Given the description of an element on the screen output the (x, y) to click on. 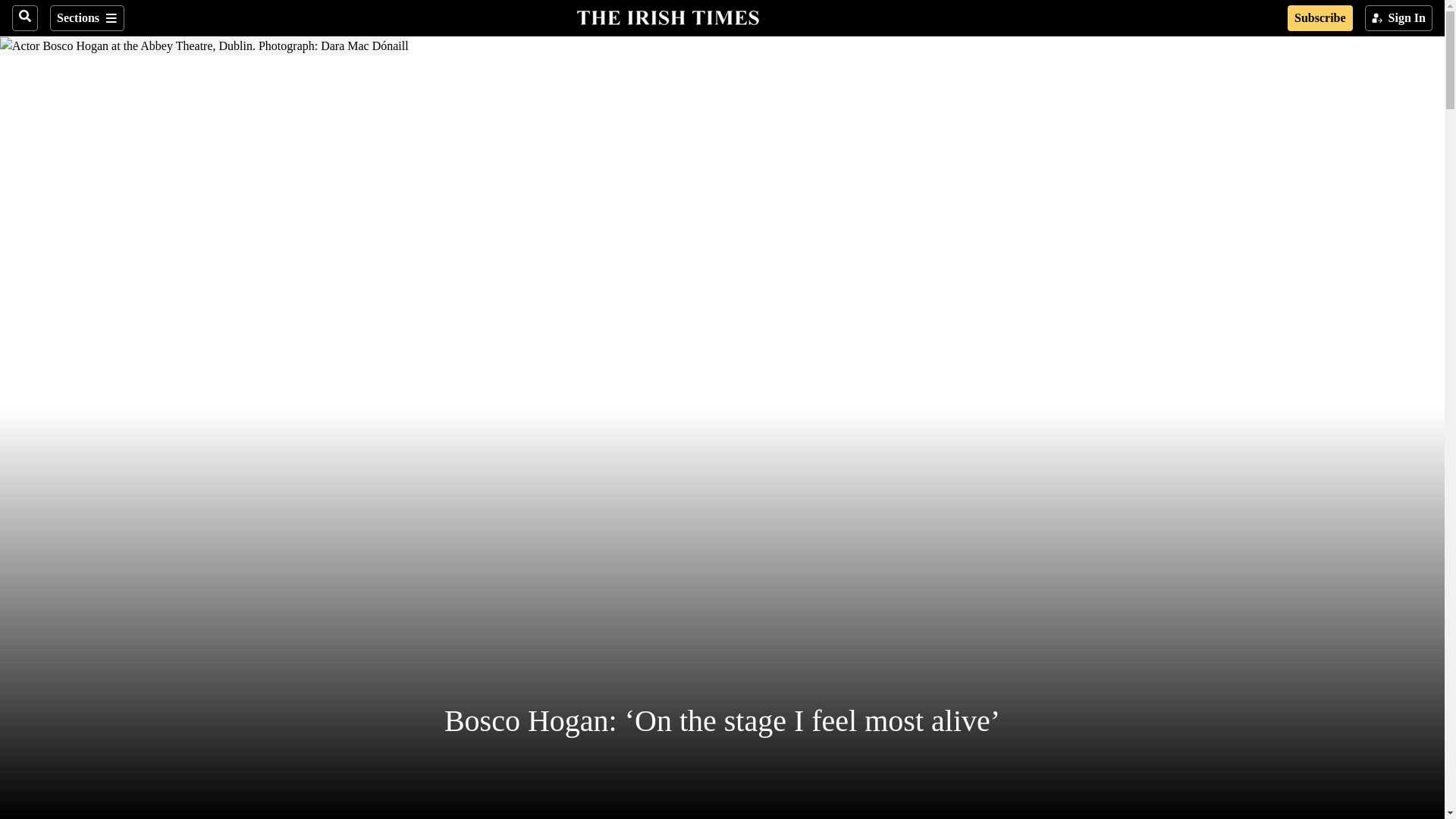
The Irish Times (667, 16)
Sections (86, 17)
Sign In (1398, 17)
Subscribe (1319, 17)
